Given the description of an element on the screen output the (x, y) to click on. 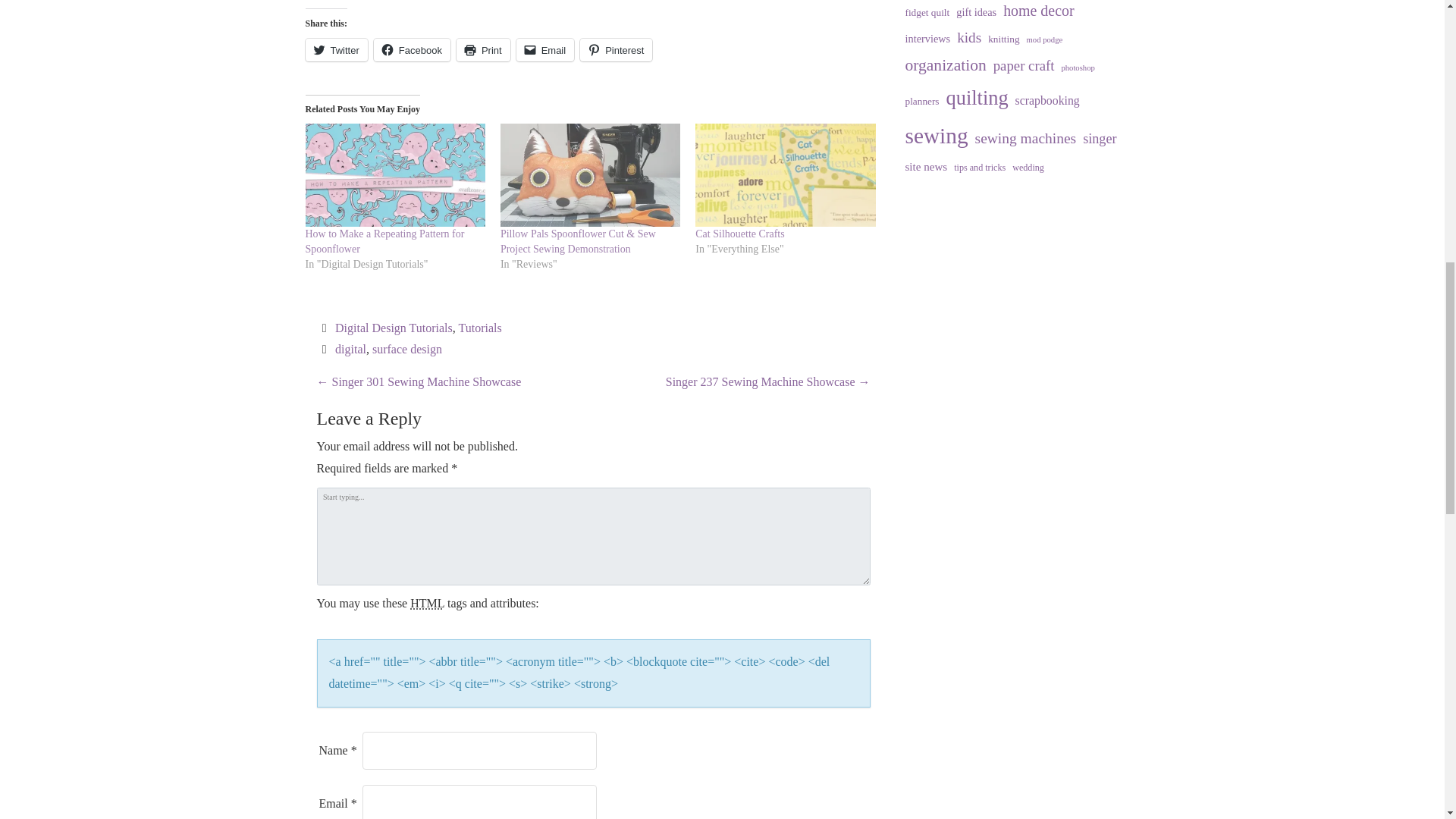
Tutorials (479, 327)
Digital Design Tutorials (393, 327)
Twitter (335, 49)
Click to share on Pinterest (615, 49)
How to Make a Repeating Pattern for Spoonflower (384, 241)
Pinterest (615, 49)
How to Make a Repeating Pattern for Spoonflower (384, 241)
Email (545, 49)
HyperText Markup Language (427, 603)
Cat Silhouette Crafts (739, 233)
Click to share on Twitter (335, 49)
surface design (407, 349)
Click to share on Facebook (411, 49)
Print (484, 49)
How to Make a Repeating Pattern for Spoonflower (394, 174)
